Given the description of an element on the screen output the (x, y) to click on. 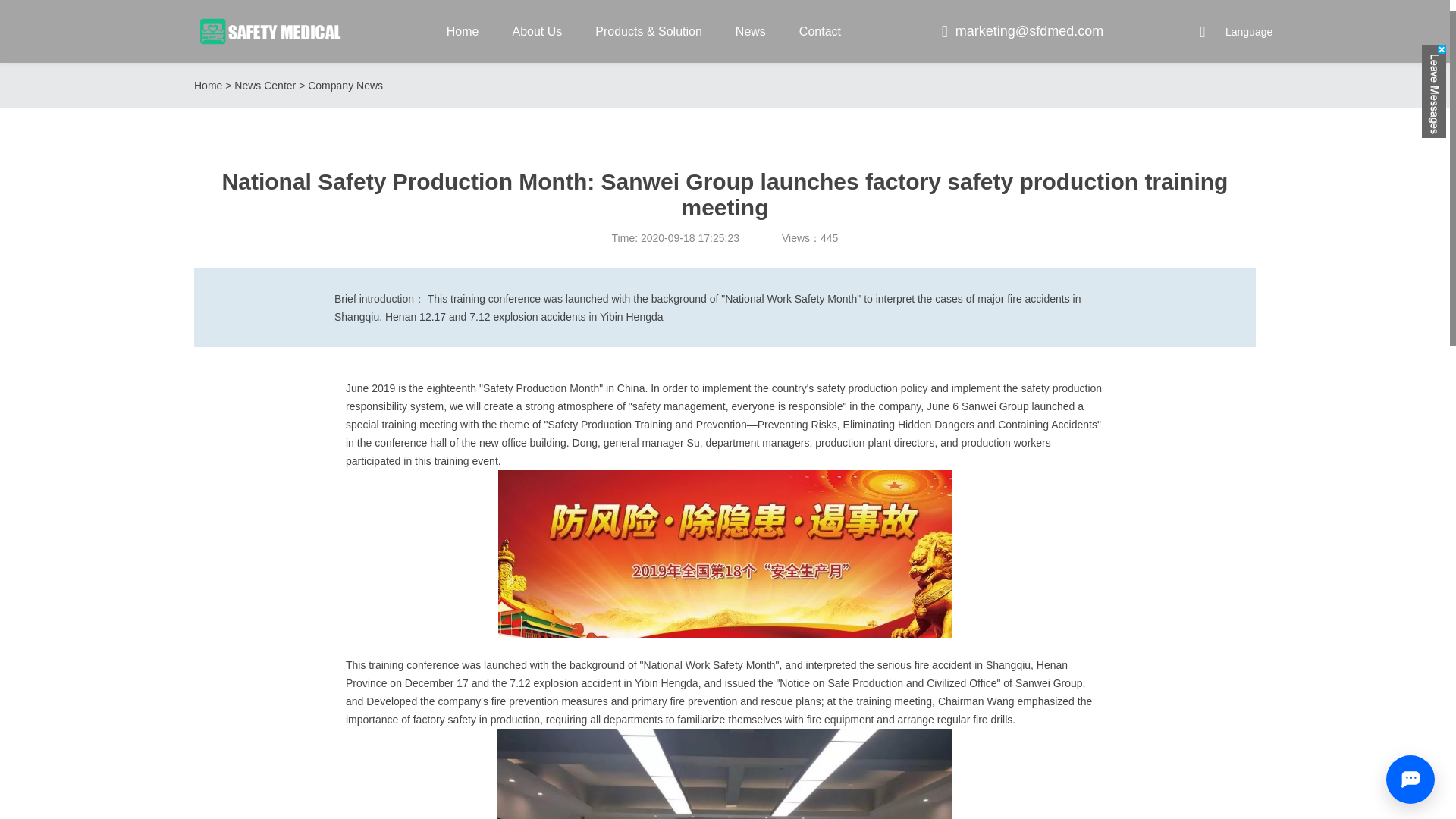
Contact (820, 33)
About Us (537, 33)
News (750, 33)
Home (462, 33)
